Given the description of an element on the screen output the (x, y) to click on. 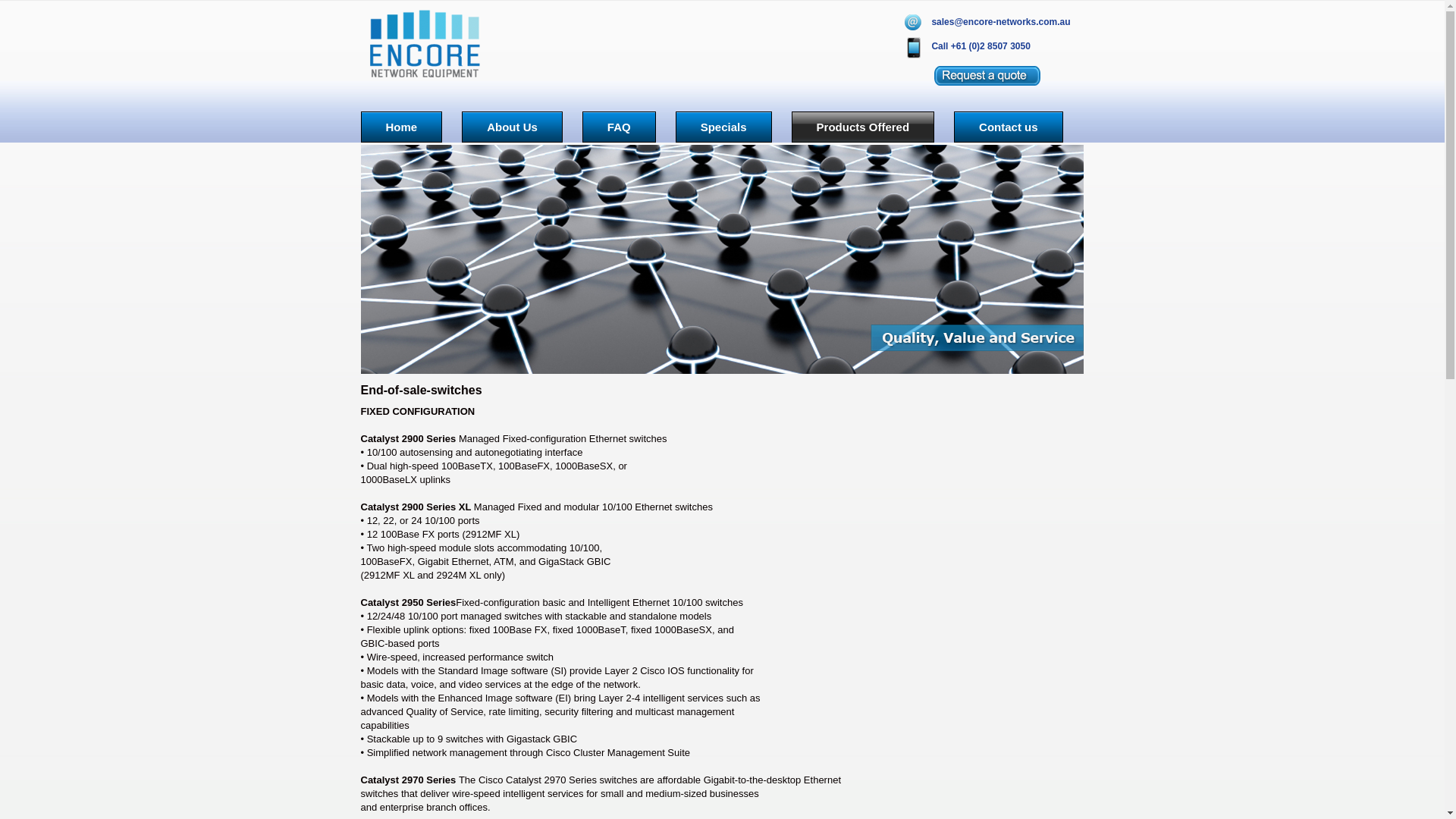
Products Offered Element type: text (863, 126)
About Us Element type: text (511, 126)
Specials Element type: text (723, 126)
ENCORE - NETWORK EQUIPMENT Element type: text (425, 43)
Home Element type: text (401, 126)
sales@encore-networks.com.au Element type: text (1000, 21)
Contact us Element type: text (1008, 126)
FAQ Element type: text (618, 126)
